Given the description of an element on the screen output the (x, y) to click on. 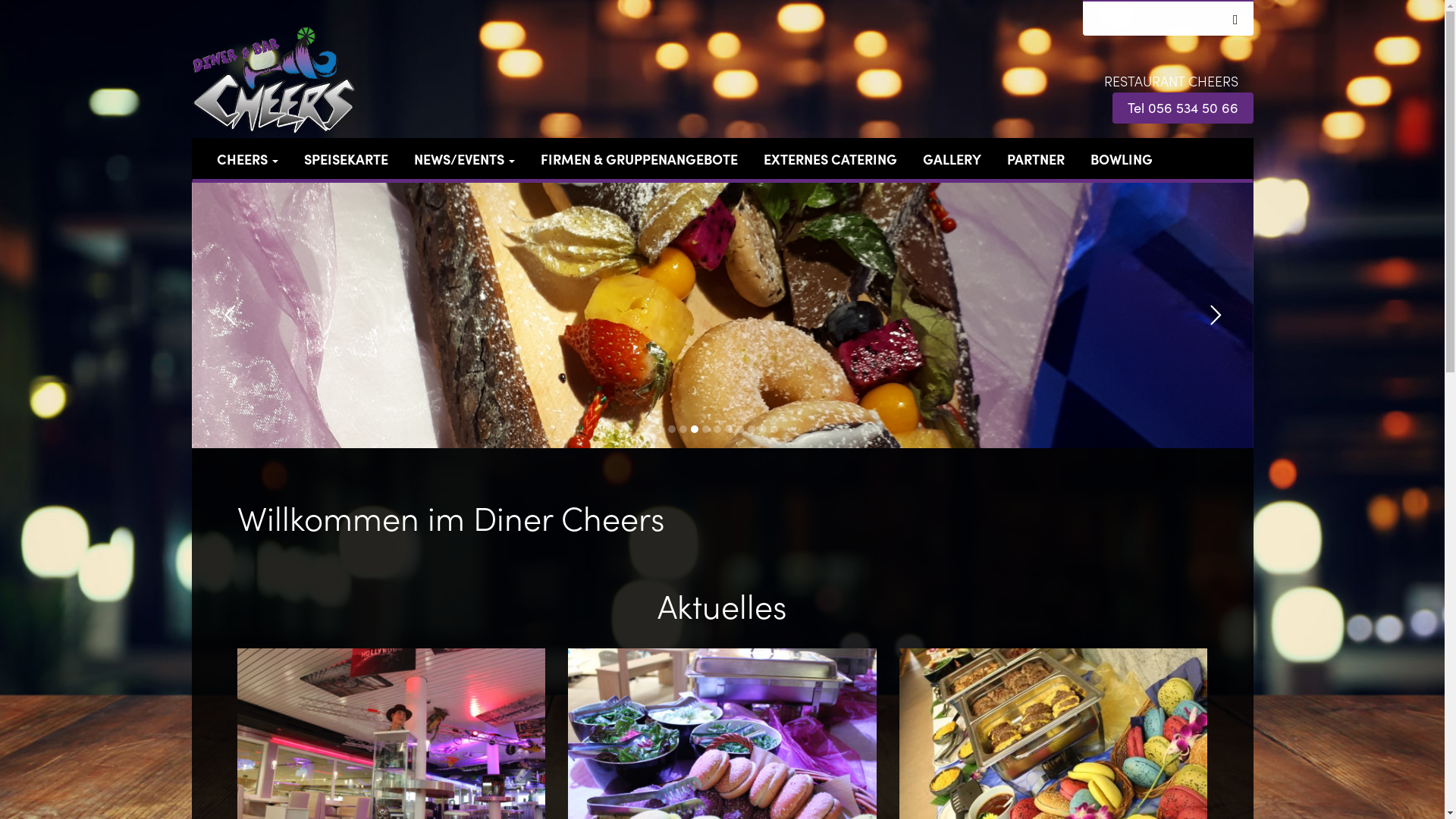
EXTERNES CATERING Element type: text (830, 158)
NEWS/EVENTS Element type: text (463, 158)
PARTNER Element type: text (1034, 158)
BOWLING Element type: text (1120, 158)
SPEISEKARTE Element type: text (346, 158)
Tel 056 534 50 66 Element type: text (1181, 106)
GALLERY Element type: text (952, 158)
CHEERS Element type: text (246, 158)
FIRMEN & GRUPPENANGEBOTE Element type: text (638, 158)
